Given the description of an element on the screen output the (x, y) to click on. 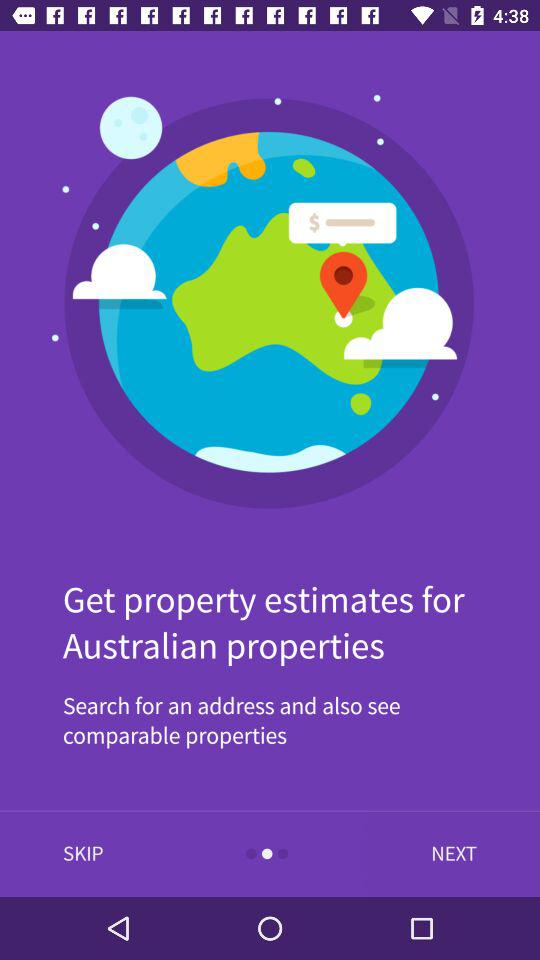
turn on icon at the bottom left corner (83, 853)
